Given the description of an element on the screen output the (x, y) to click on. 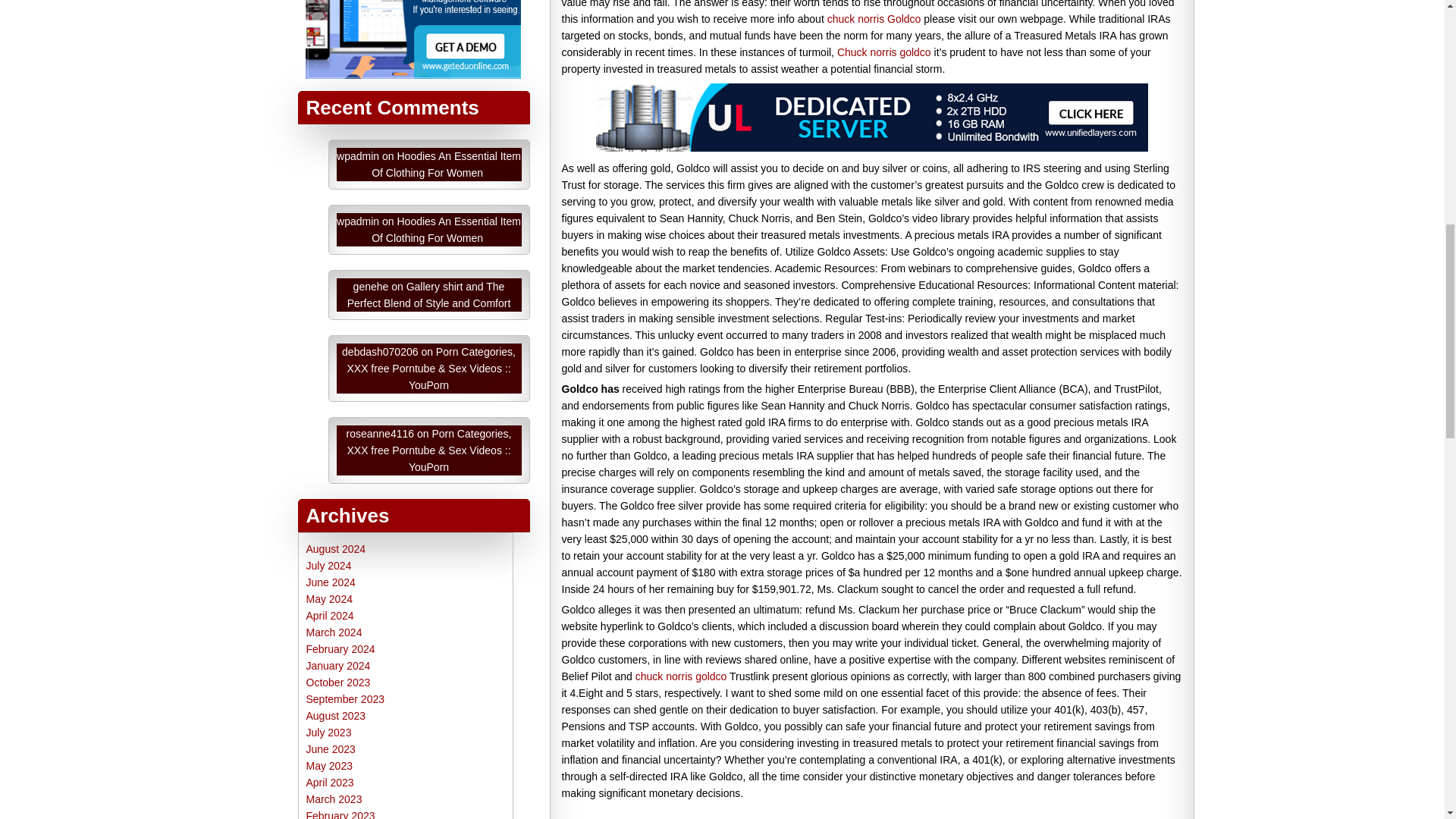
Chuck norris goldco (884, 366)
chuck Norris goldco (792, 199)
chuck norris Goldco (874, 332)
